Given the description of an element on the screen output the (x, y) to click on. 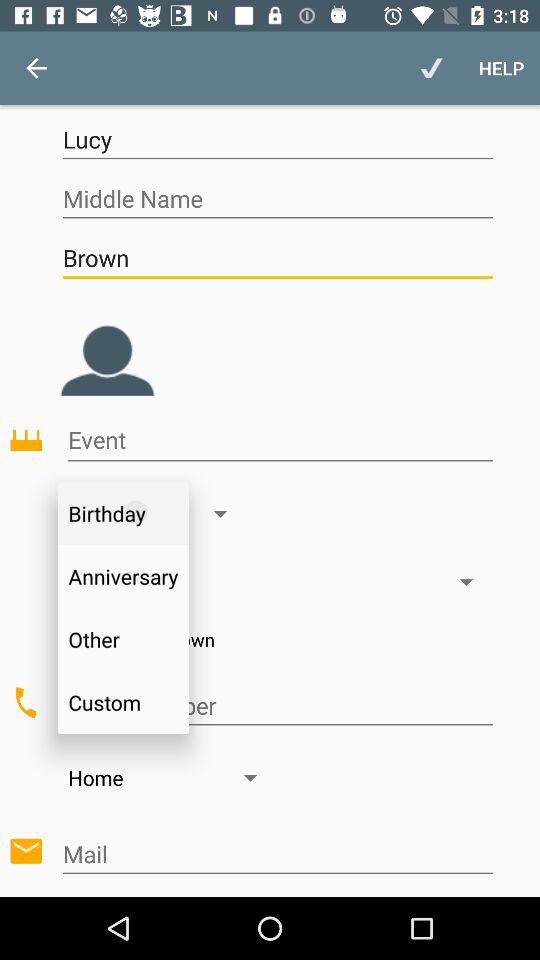
turn on icon above lucy item (36, 68)
